Given the description of an element on the screen output the (x, y) to click on. 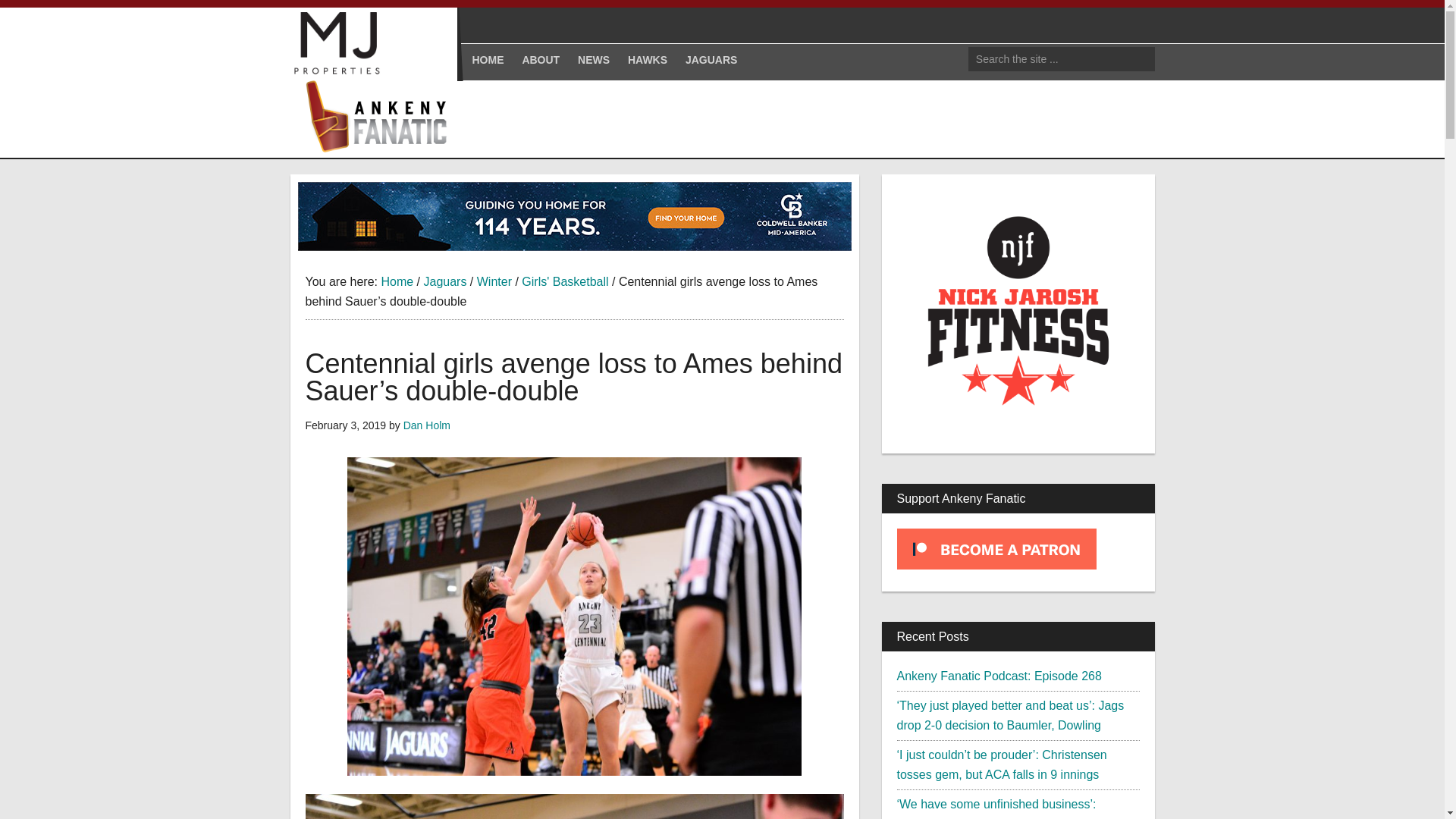
Jaguars (444, 281)
NEWS (593, 59)
HAWKS (647, 59)
Home (396, 281)
JAGUARS (711, 59)
Ankeny Fanatic (380, 117)
HOME (487, 59)
ABOUT (540, 59)
